Given the description of an element on the screen output the (x, y) to click on. 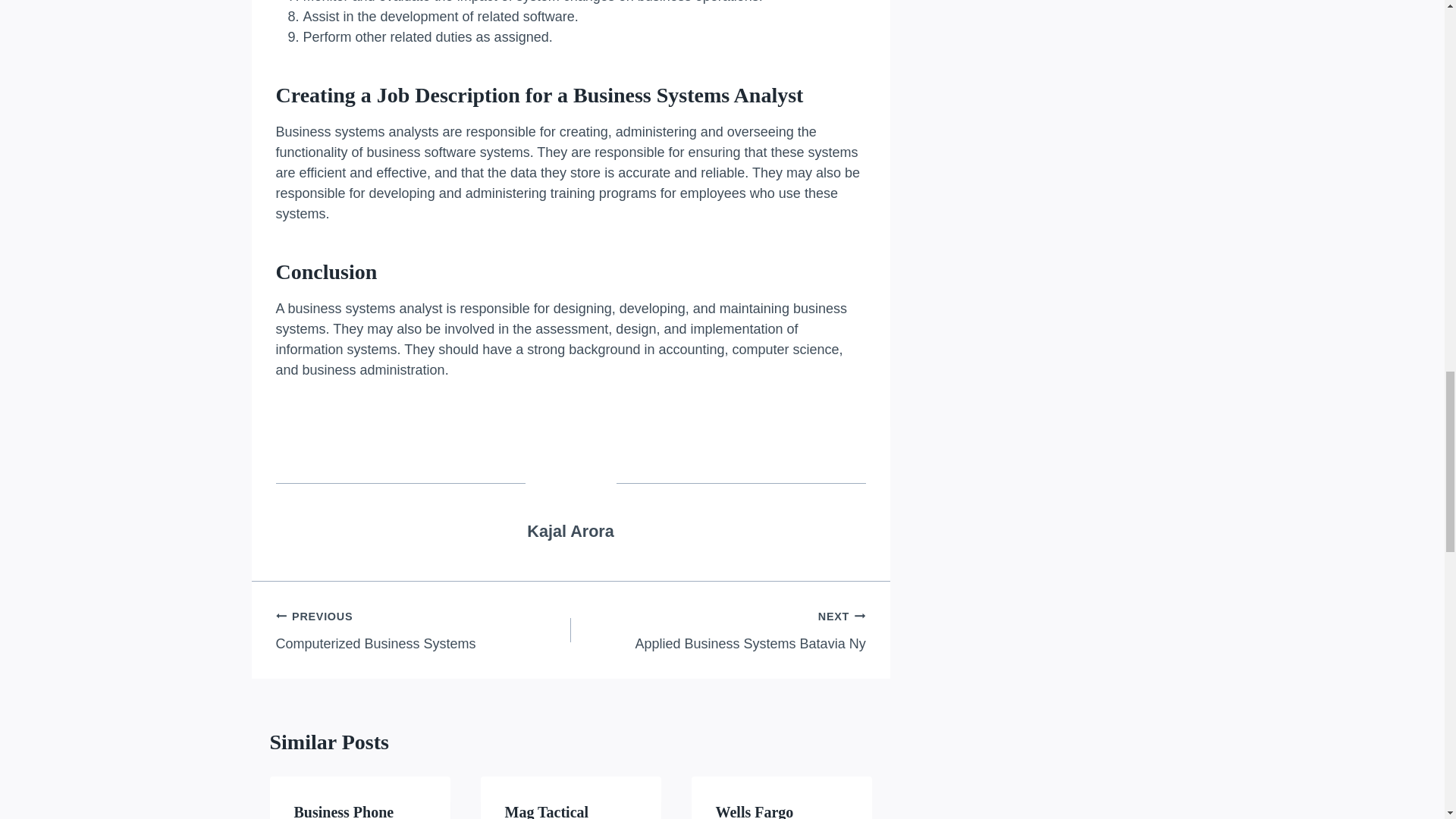
Wells Fargo Business Systems Consultant (771, 811)
Mag Tactical Systems Out Of Business (423, 630)
Posts by Kajal Arora (556, 811)
Business Phone Systems Ct (569, 530)
Kajal Arora (344, 811)
